Given the description of an element on the screen output the (x, y) to click on. 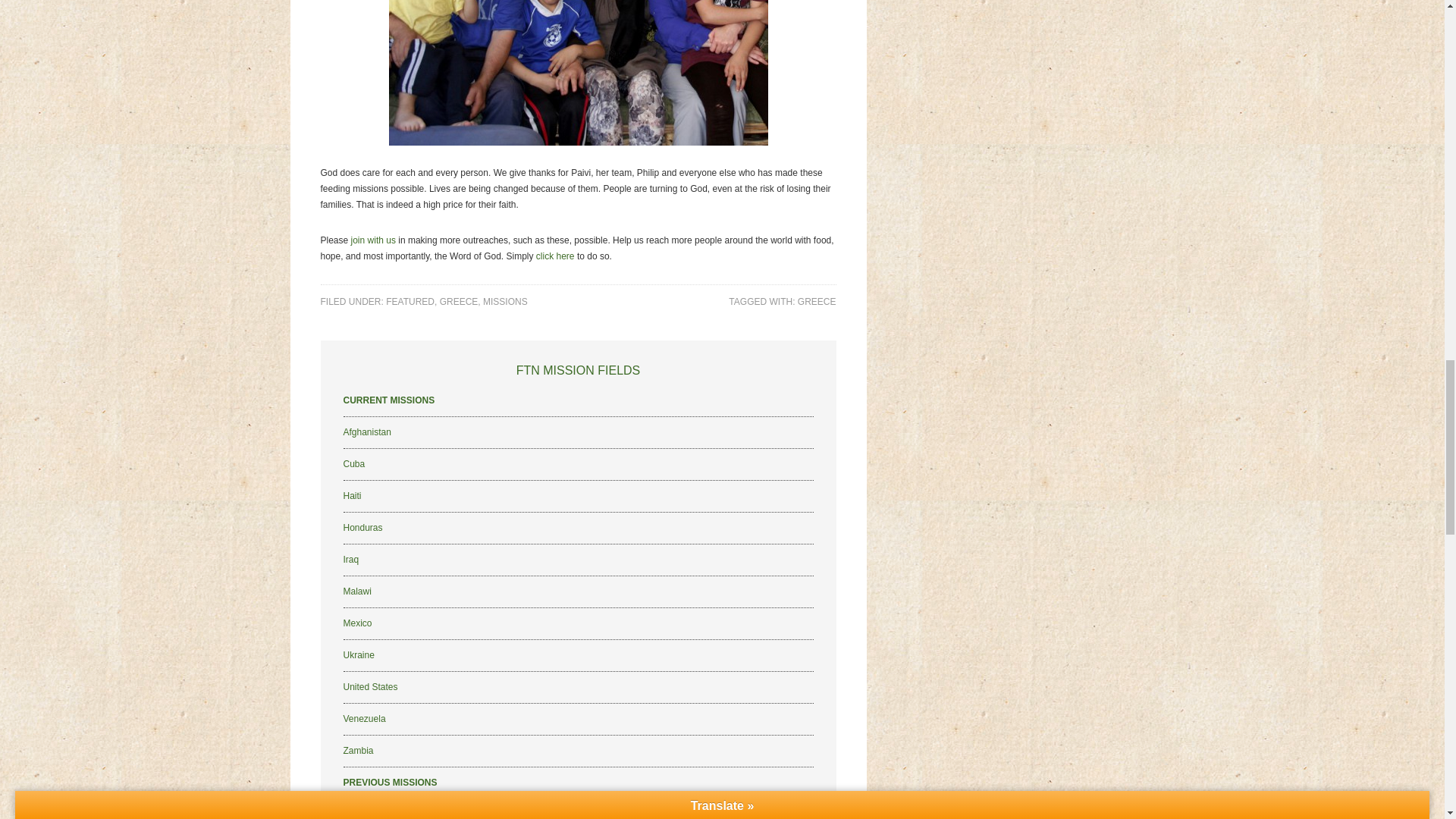
Mexico (356, 623)
Cuba (353, 463)
click here (555, 255)
PREVIOUS MISSIONS (389, 782)
MISSIONS (505, 301)
Albania (357, 814)
GREECE (459, 301)
Honduras (361, 527)
Venezuela (363, 718)
Malawi (356, 591)
join with us (373, 240)
United States (369, 686)
Afghanistan (366, 431)
FEATURED (409, 301)
CURRENT MISSIONS (387, 399)
